Given the description of an element on the screen output the (x, y) to click on. 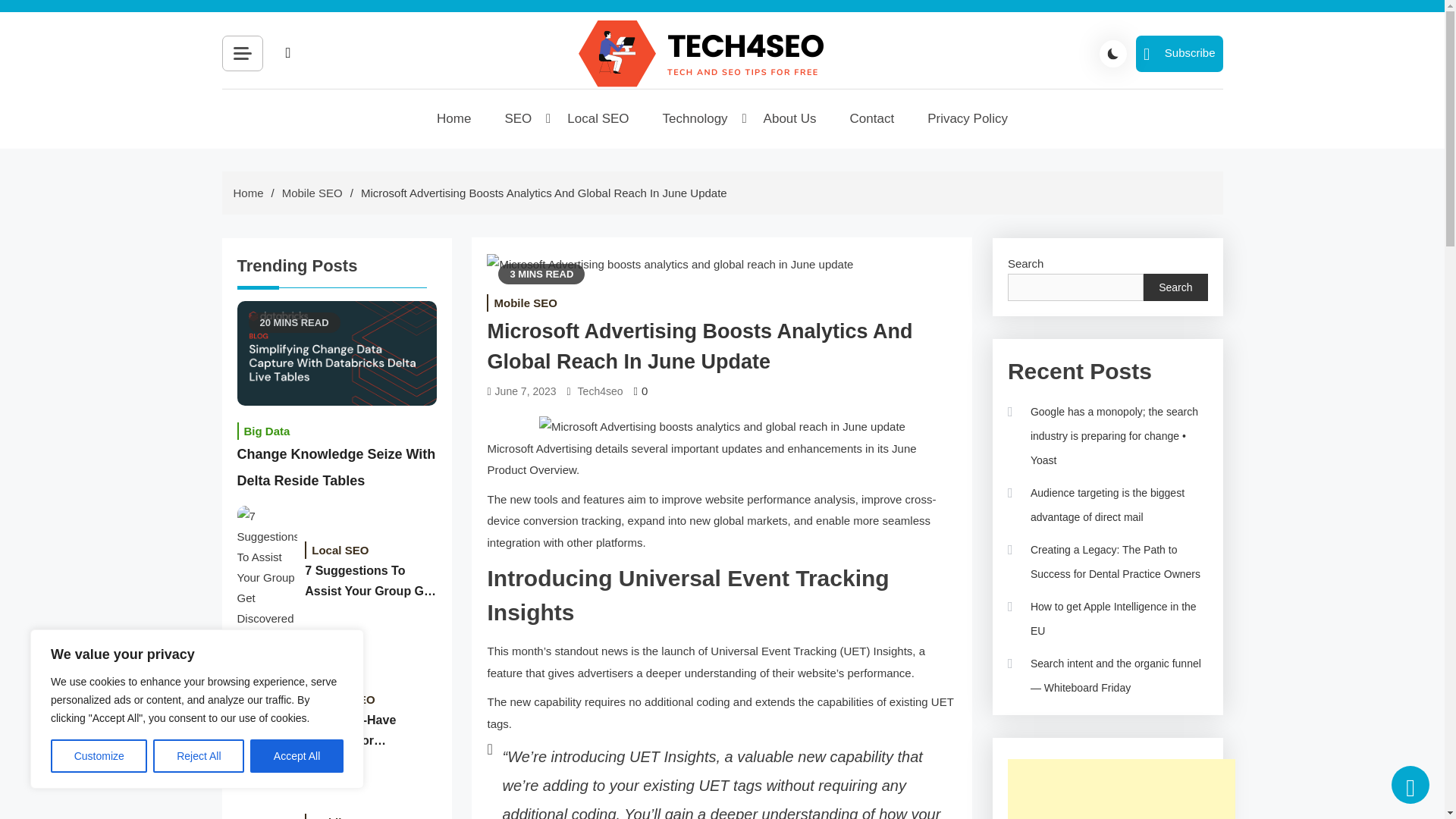
Accept All (296, 756)
Reject All (198, 756)
Customize (98, 756)
